Given the description of an element on the screen output the (x, y) to click on. 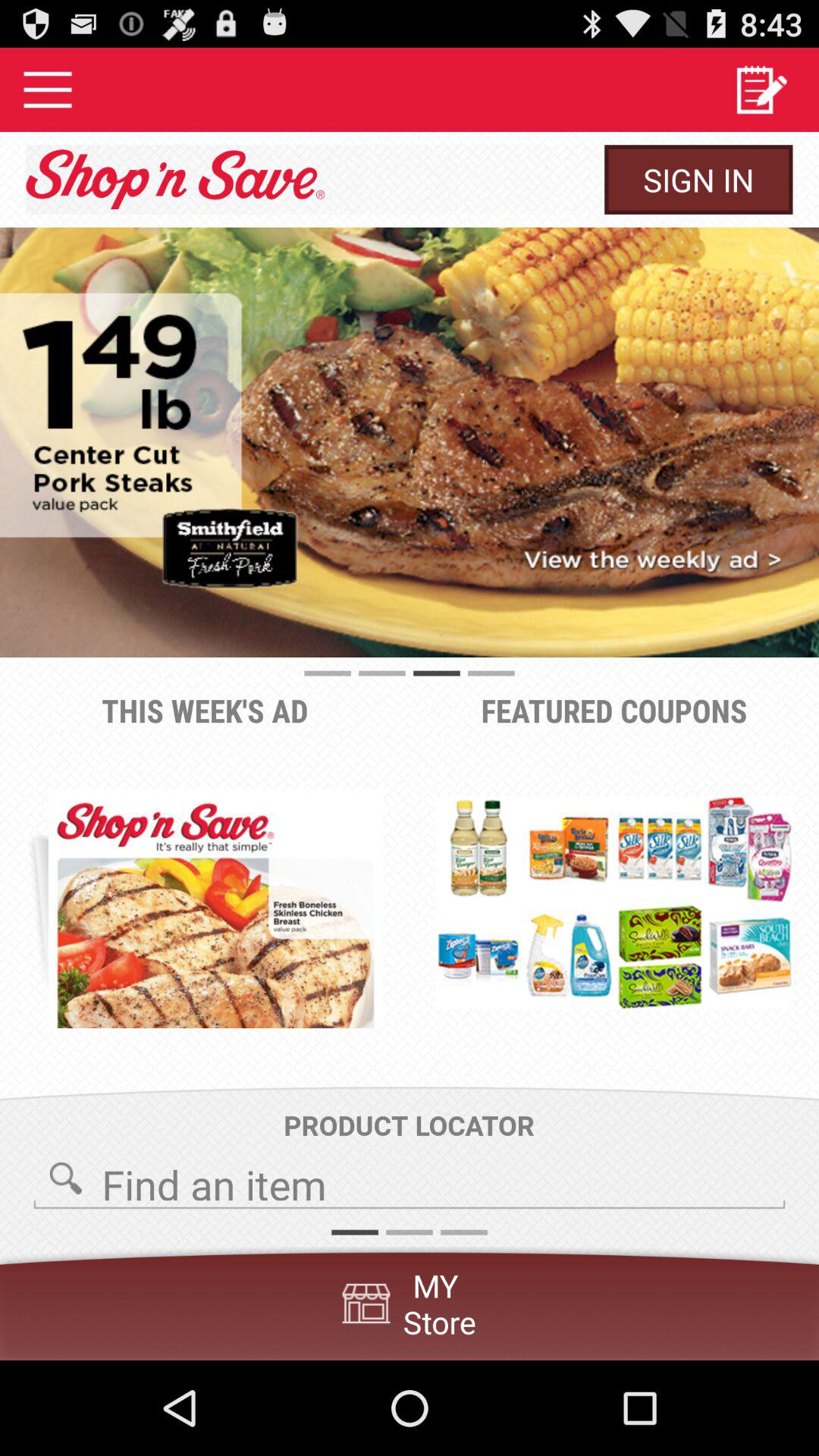
choose icon below the product locator (409, 1179)
